Given the description of an element on the screen output the (x, y) to click on. 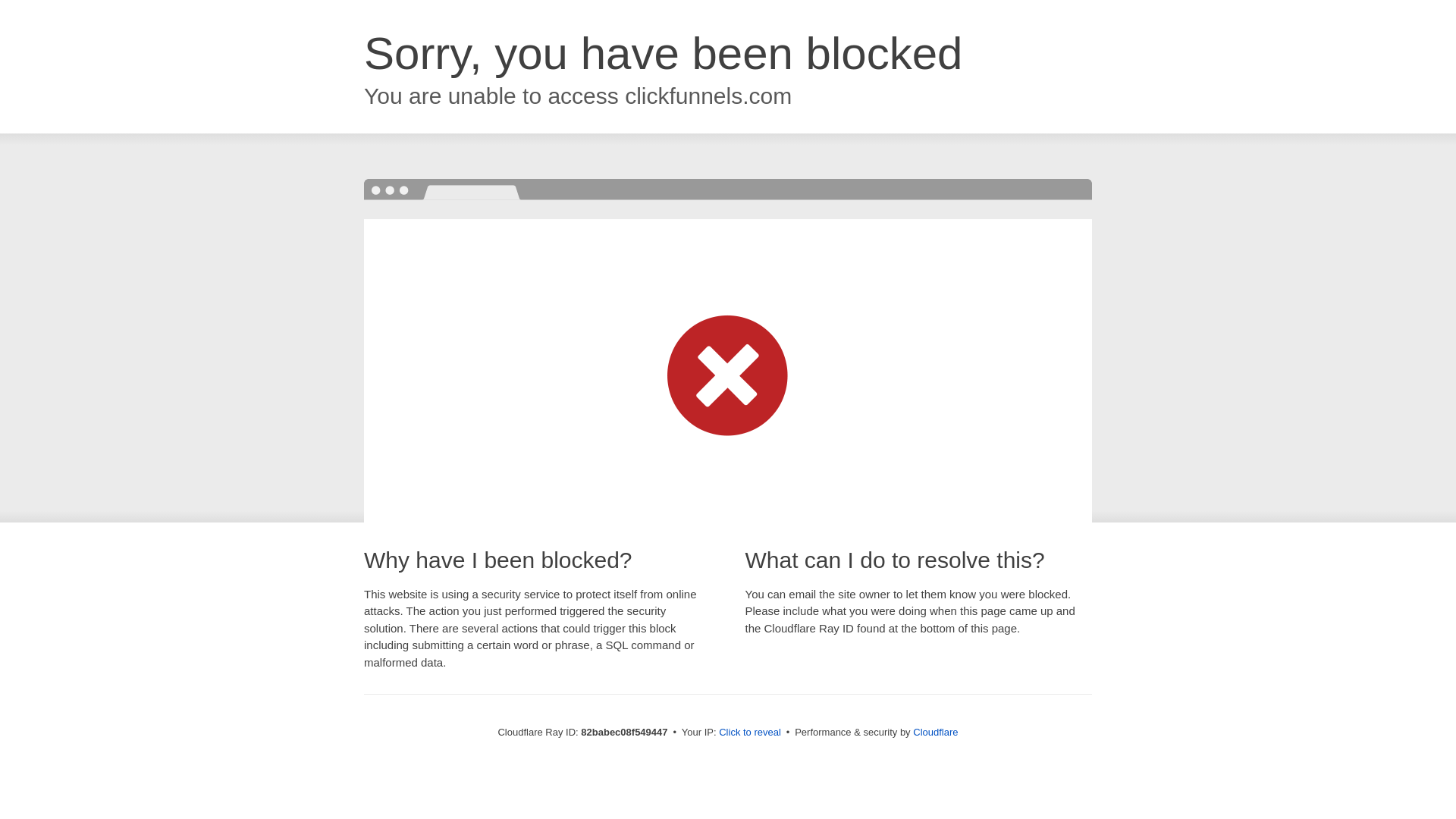
Click to reveal Element type: text (749, 732)
Cloudflare Element type: text (935, 731)
